Given the description of an element on the screen output the (x, y) to click on. 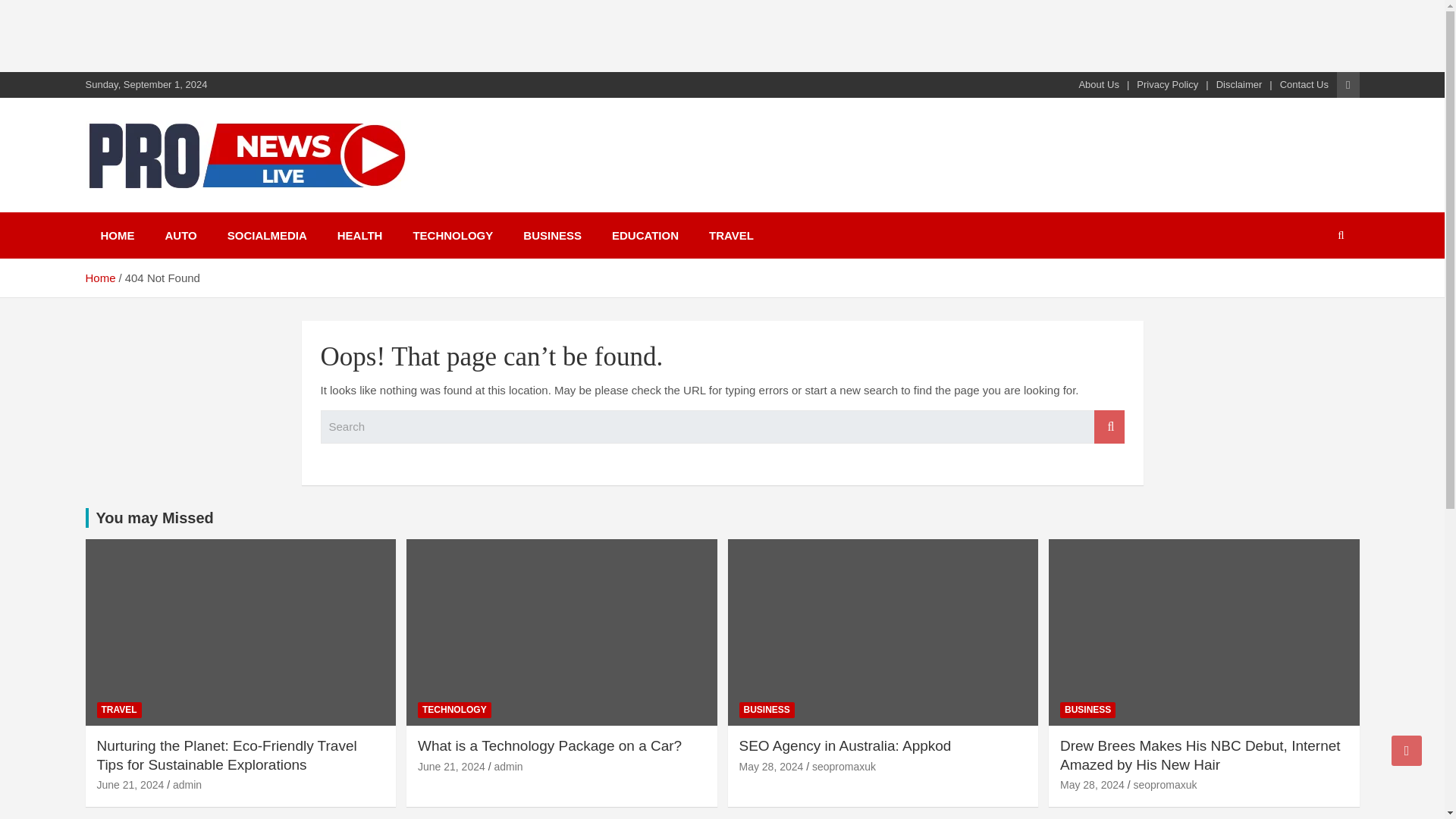
About Us (1098, 84)
SEO Agency in Australia: Appkod (844, 745)
What is a Technology Package on a Car? (549, 745)
You may Missed (154, 517)
HEALTH (359, 235)
June 21, 2024 (450, 766)
EDUCATION (645, 235)
BUSINESS (1087, 709)
BUSINESS (765, 709)
